Given the description of an element on the screen output the (x, y) to click on. 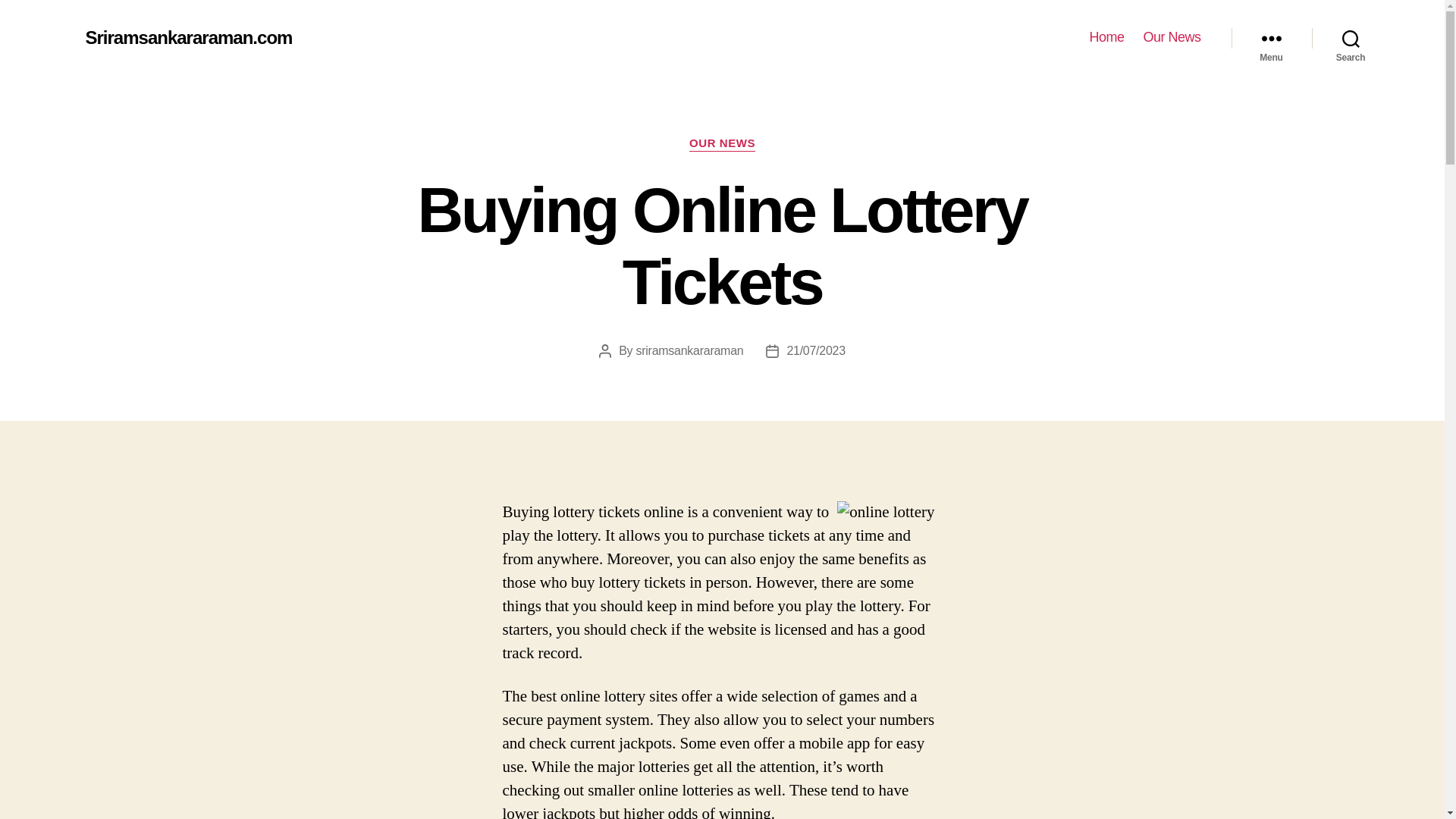
Search (1350, 37)
OUR NEWS (721, 143)
sriramsankararaman (690, 350)
Our News (1170, 37)
Home (1106, 37)
Menu (1271, 37)
Sriramsankararaman.com (188, 37)
